Given the description of an element on the screen output the (x, y) to click on. 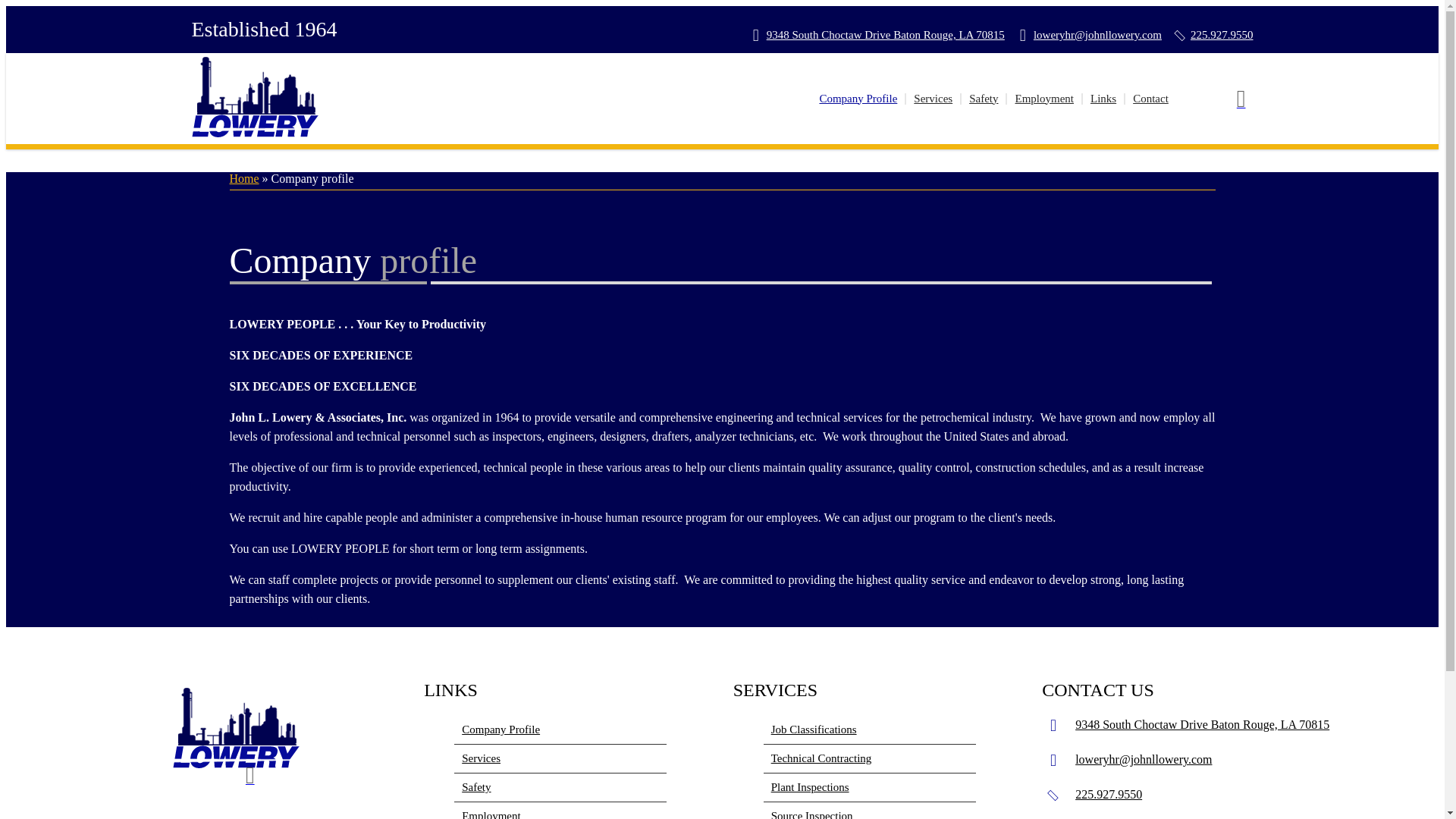
Links (1104, 98)
Employment (560, 810)
Company Profile (560, 729)
9348 South Choctaw Drive Baton Rouge, LA 70815 (885, 34)
Services (932, 98)
Services (560, 758)
Safety (983, 98)
9348 South Choctaw Drive Baton Rouge, LA 70815 (1202, 724)
225.927.9550 (1108, 793)
Contact (1150, 98)
Technical Contracting (868, 758)
Safety (560, 787)
225.927.9550 (1222, 34)
Employment (1045, 98)
